Given the description of an element on the screen output the (x, y) to click on. 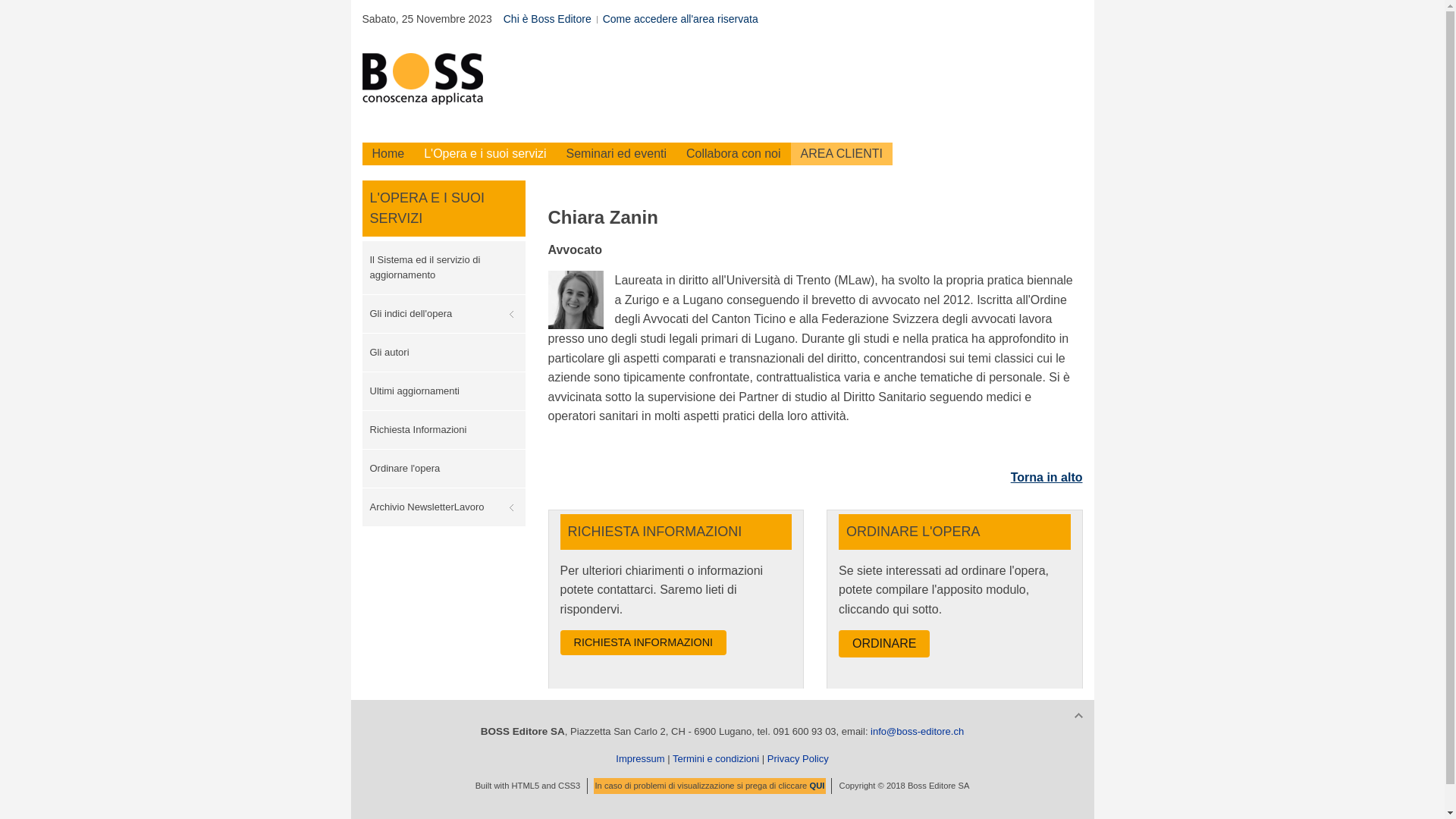
Seminari ed eventi Element type: text (616, 153)
Come accedere all'area riservata Element type: text (680, 19)
QUI Element type: text (816, 785)
Il Sistema ed il servizio di aggiornamento Element type: text (443, 267)
Ordinare l'opera Element type: text (443, 468)
Archivio NewsletterLavoro Element type: text (443, 507)
Impressum Element type: text (639, 758)
Ultimi aggiornamenti Element type: text (443, 391)
ORDINARE Element type: text (883, 643)
Chiara Zanin Element type: hover (574, 299)
L'Opera e i suoi servizi Element type: text (484, 153)
RICHIESTA INFORMAZIONI Element type: text (642, 642)
Richiesta Informazioni Element type: text (443, 429)
Termini e condizioni Element type: text (715, 758)
Collabora con noi Element type: text (733, 153)
Gli indici dell'opera Element type: text (443, 313)
info@boss-editore.ch Element type: text (916, 731)
Home Element type: text (388, 153)
Torna in alto Element type: text (1046, 476)
Gli autori Element type: text (443, 352)
Privacy Policy Element type: text (797, 758)
